Given the description of an element on the screen output the (x, y) to click on. 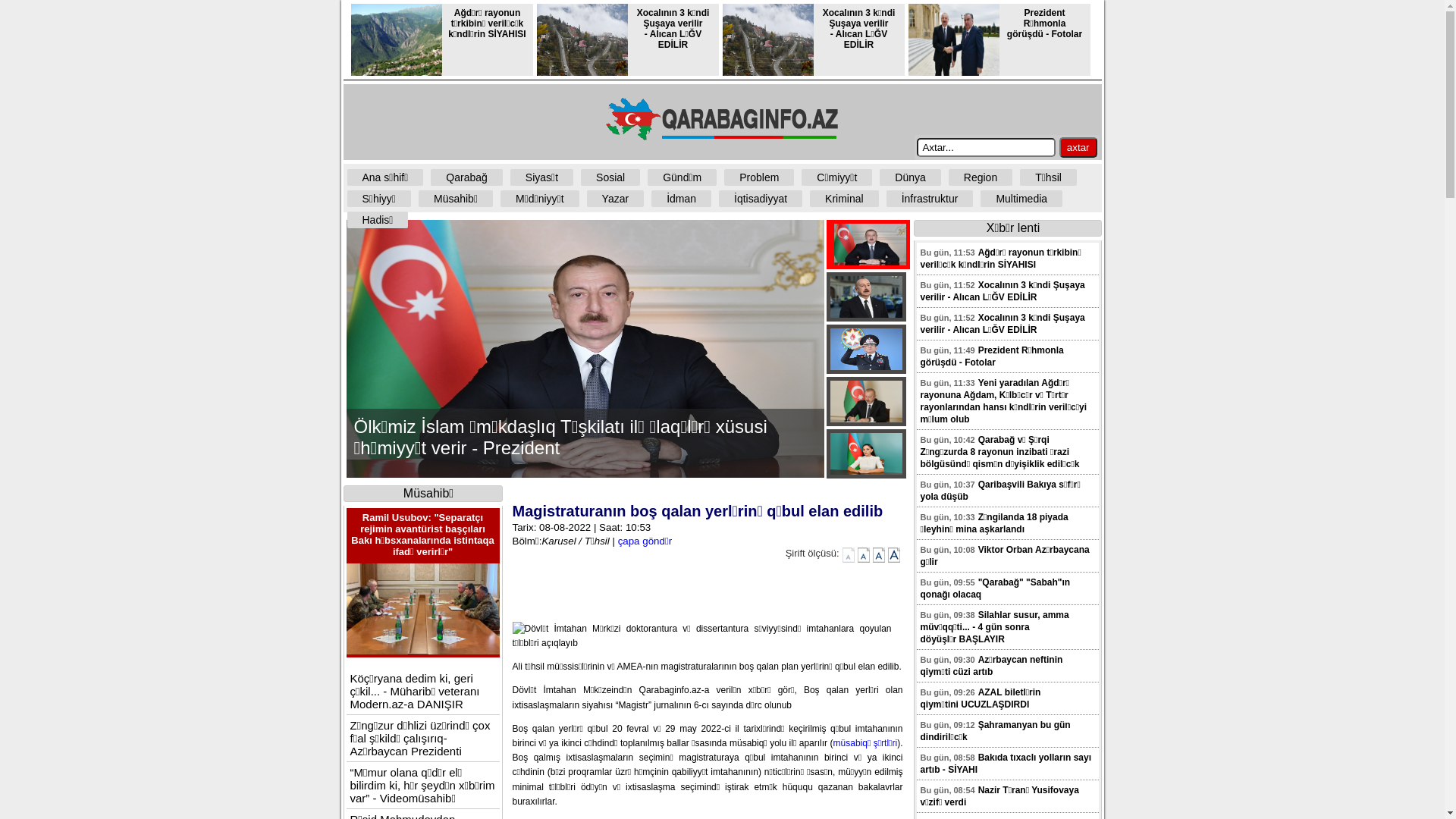
axtar Element type: text (1078, 147)
Region Element type: text (980, 177)
Yazar Element type: text (615, 198)
Problem Element type: text (758, 177)
Sosial Element type: text (610, 177)
Kriminal Element type: text (843, 198)
Multimedia Element type: text (1021, 198)
